Given the description of an element on the screen output the (x, y) to click on. 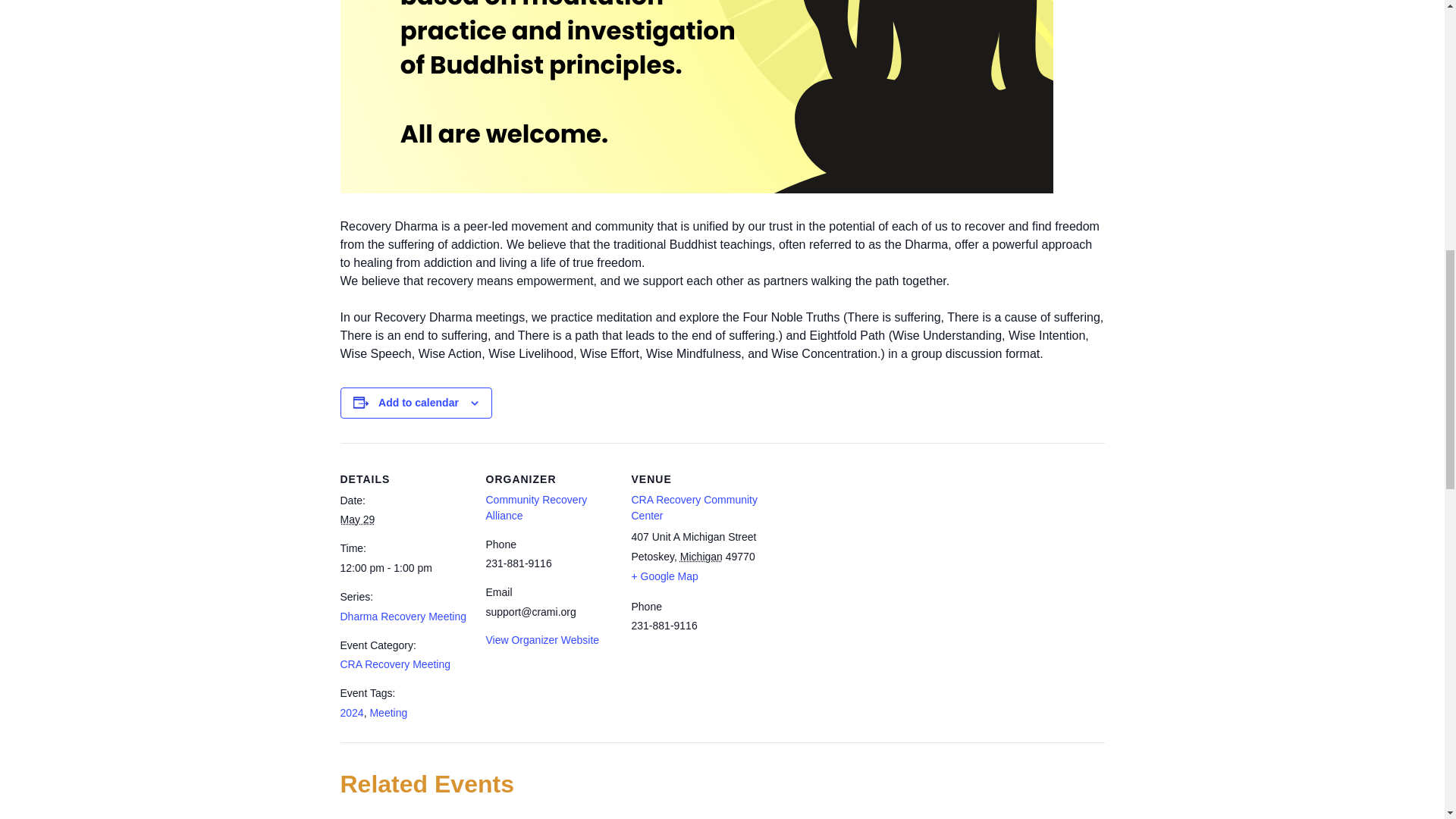
Community Recovery Alliance (535, 507)
Michigan (700, 556)
2024-05-29 (403, 568)
Click to view a Google Map (663, 576)
2024-05-29 (356, 519)
Dharma Recovery Meeting (402, 616)
